Given the description of an element on the screen output the (x, y) to click on. 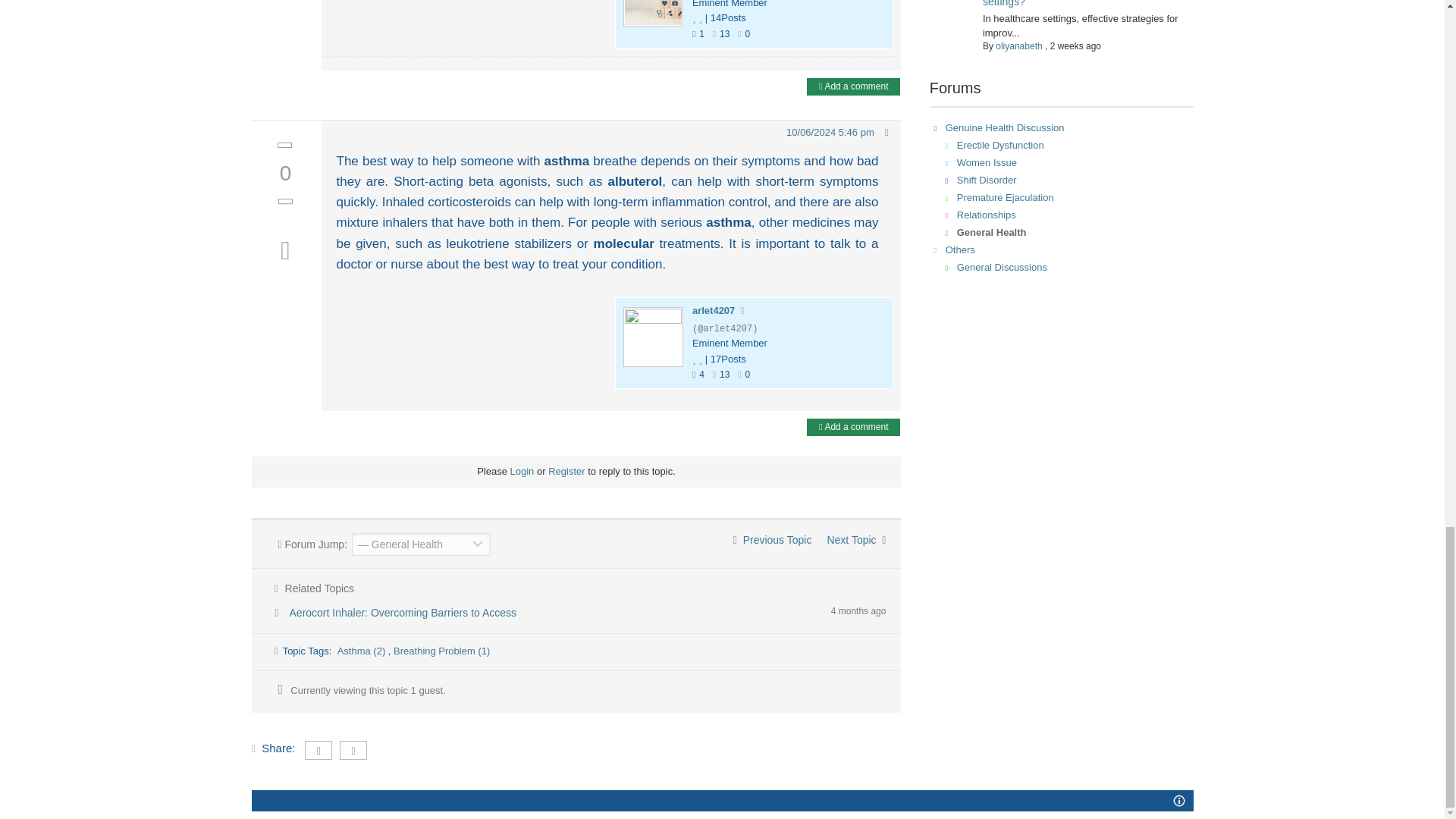
Login (522, 471)
Rating Title (730, 5)
  Previous Topic (772, 539)
Register (566, 471)
marthajones88 (652, 13)
Aerocort Inhaler: Overcoming Barriers to Access (402, 612)
Next Topic   (856, 539)
arlet4207 (714, 310)
